Given the description of an element on the screen output the (x, y) to click on. 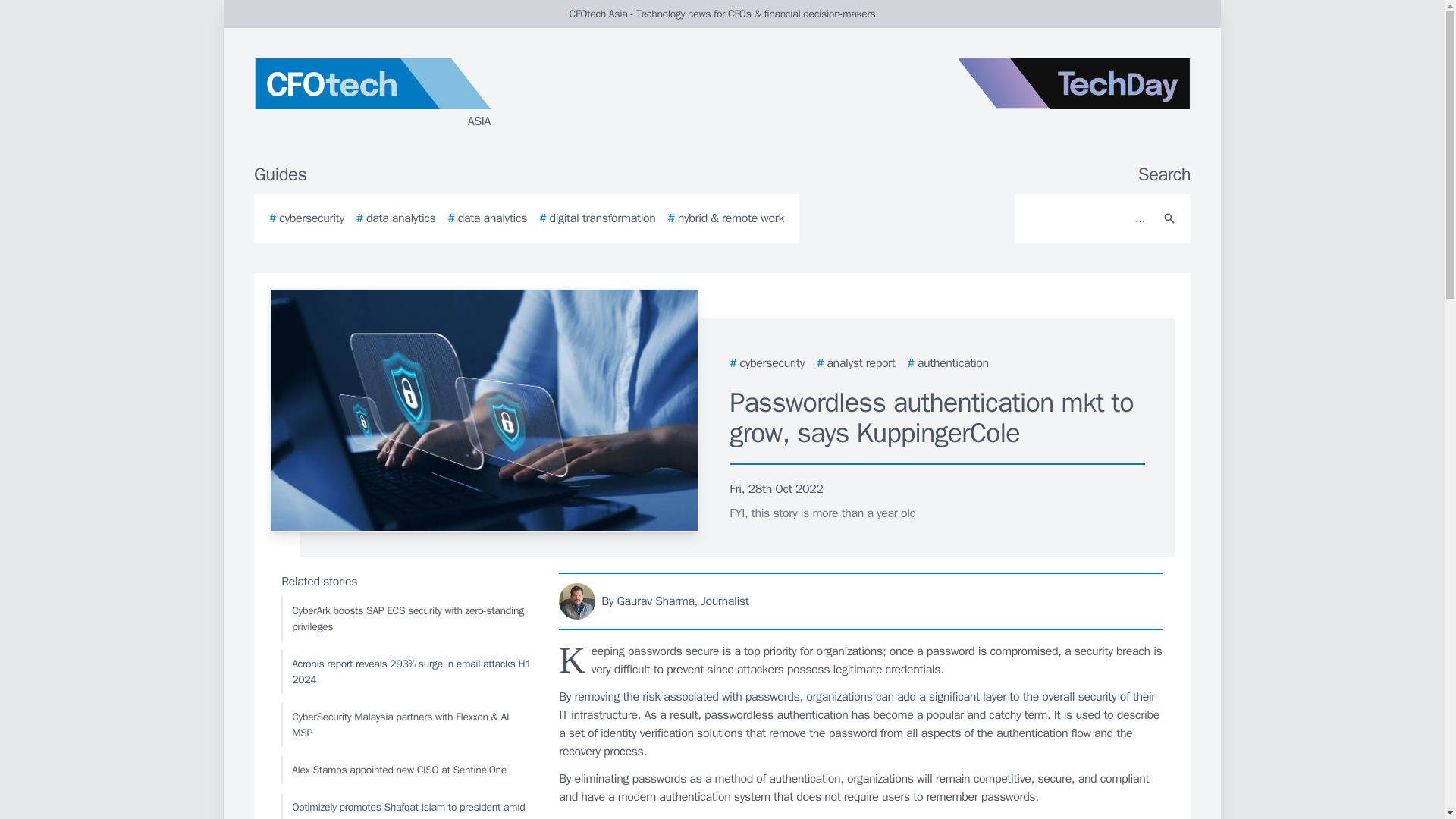
By Gaurav Sharma, Journalist (861, 601)
Alex Stamos appointed new CISO at SentinelOne (406, 769)
ASIA (435, 94)
